Given the description of an element on the screen output the (x, y) to click on. 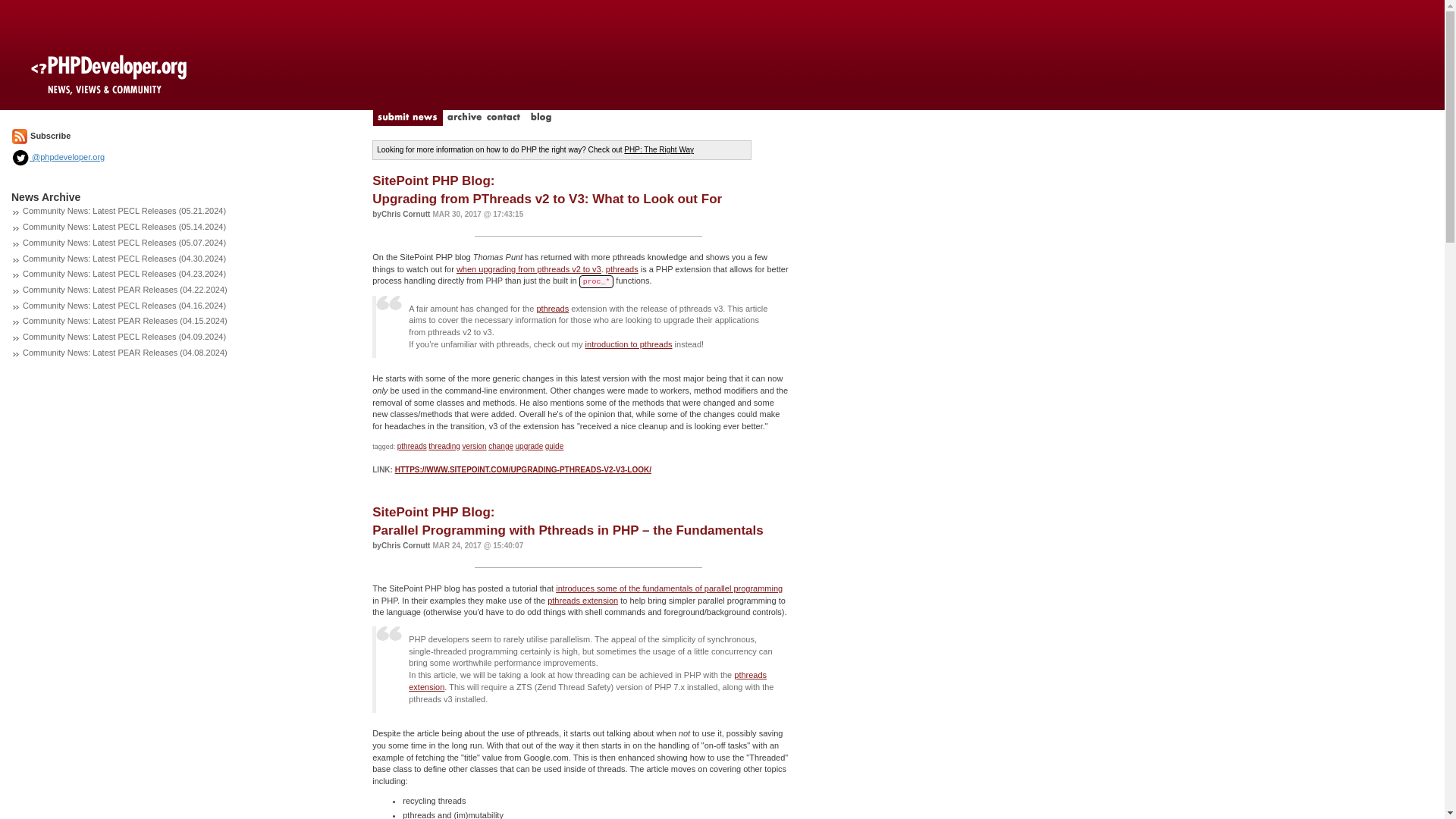
pthreads extension (588, 680)
introduces some of the fundamentals of parallel programming (669, 587)
PHP: The Right Way (659, 149)
pthreads (411, 446)
version (473, 446)
pthreads (552, 307)
when upgrading from pthreads v2 to v3 (529, 268)
pthreads (622, 268)
change (500, 446)
guide (553, 446)
threading (444, 446)
pthreads extension (582, 600)
upgrade (529, 446)
introduction to pthreads (628, 343)
